Given the description of an element on the screen output the (x, y) to click on. 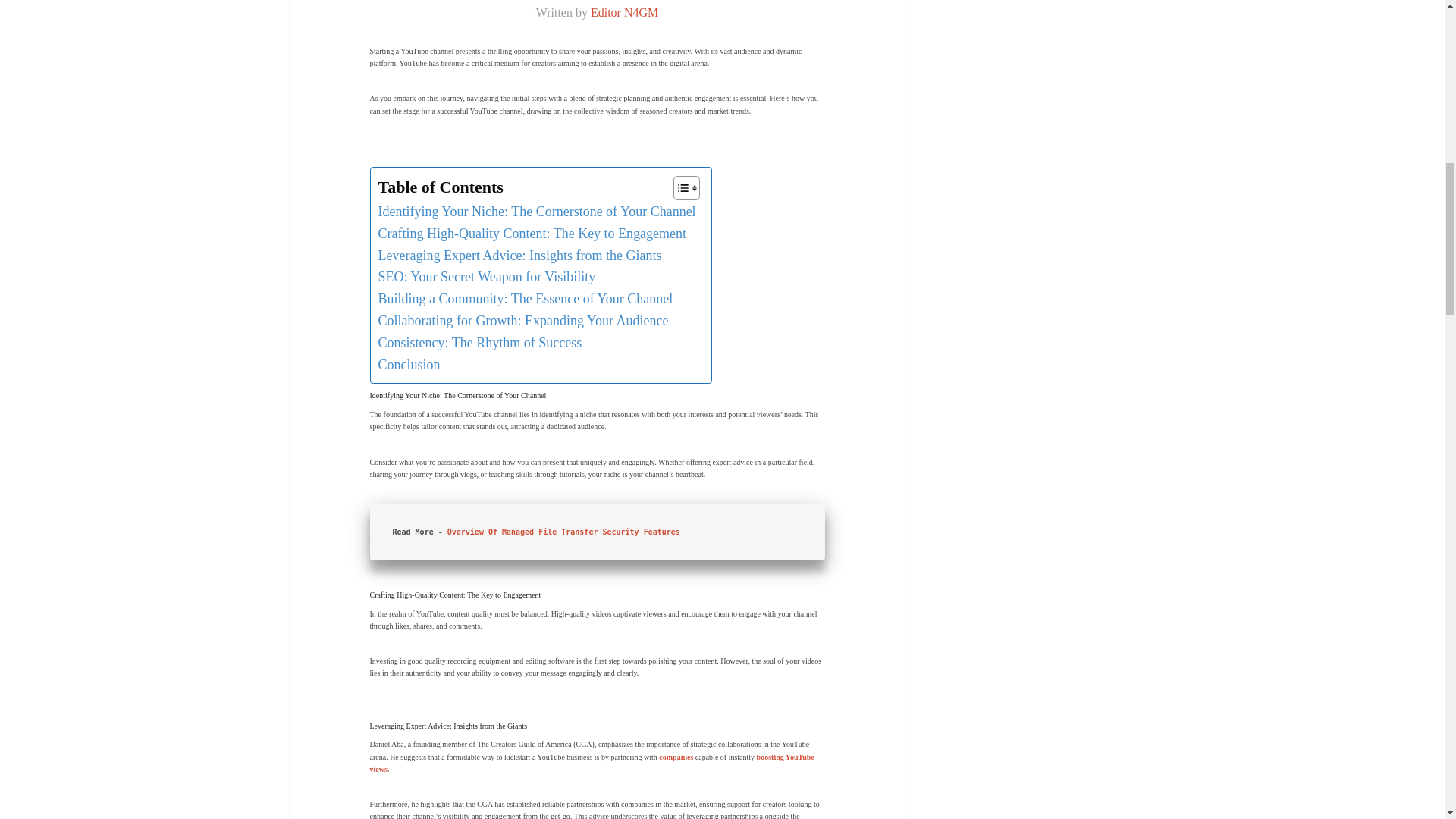
Leveraging Expert Advice: Insights from the Giants (519, 255)
Identifying Your Niche: The Cornerstone of Your Channel (536, 211)
Consistency: The Rhythm of Success (478, 342)
SEO: Your Secret Weapon for Visibility (486, 277)
Crafting High-Quality Content: The Key to Engagement (531, 233)
Collaborating for Growth: Expanding Your Audience (522, 321)
Building a Community: The Essence of Your Channel (524, 299)
Conclusion (408, 364)
